Given the description of an element on the screen output the (x, y) to click on. 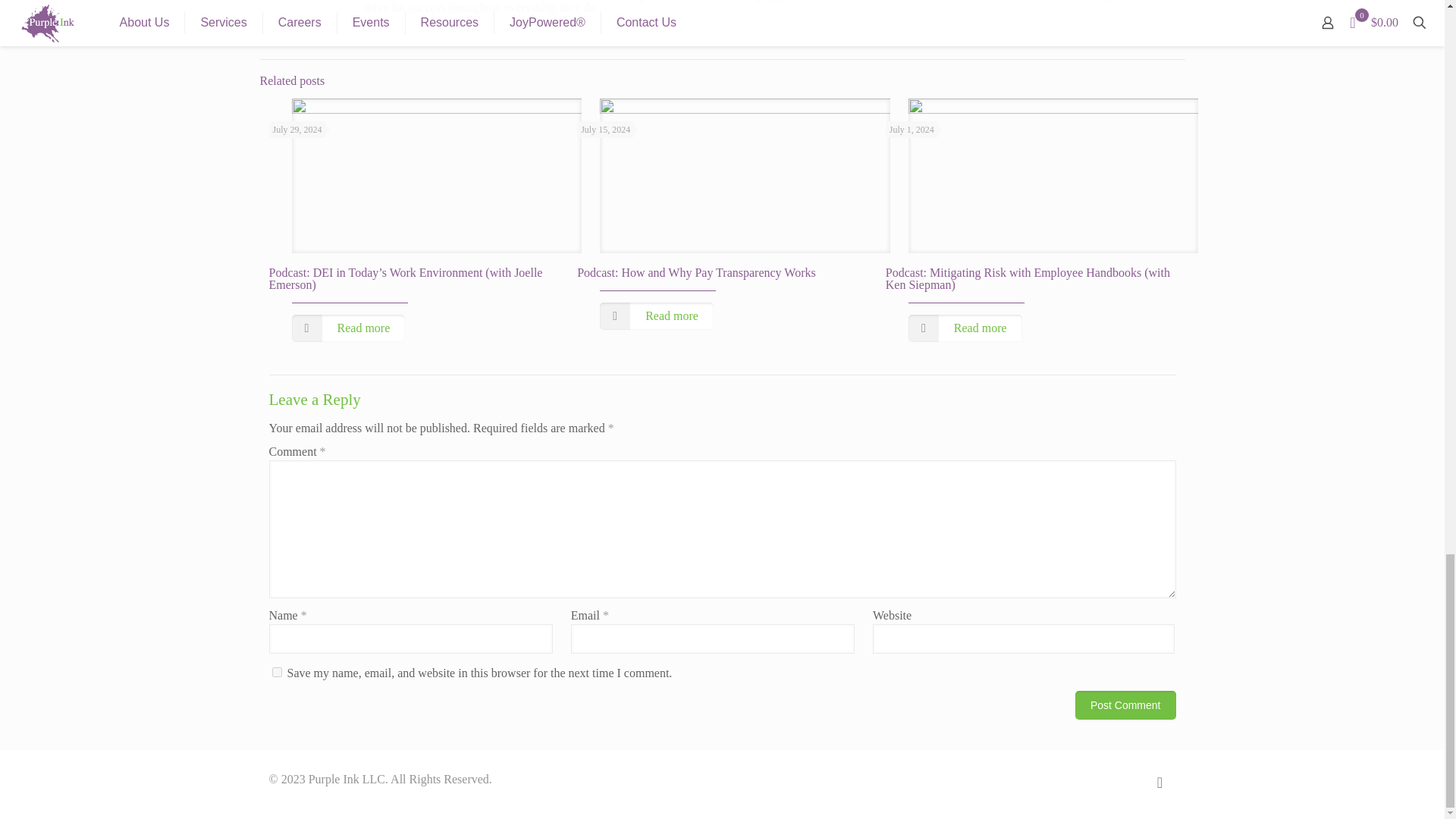
Post Comment (1125, 705)
Facebook (1091, 779)
LinkedIn (1123, 779)
yes (275, 672)
